Given the description of an element on the screen output the (x, y) to click on. 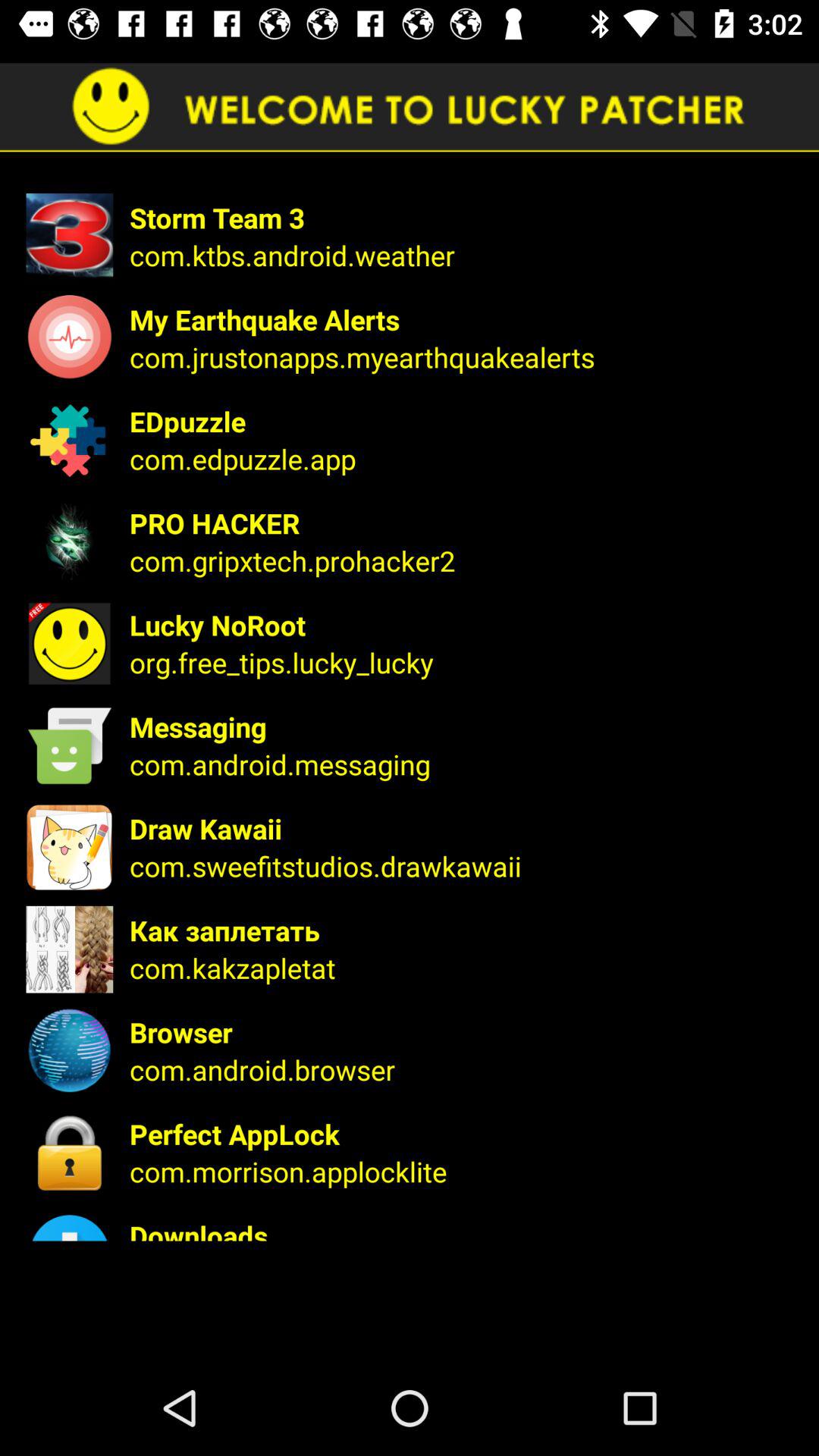
scroll to downloads icon (464, 1229)
